Given the description of an element on the screen output the (x, y) to click on. 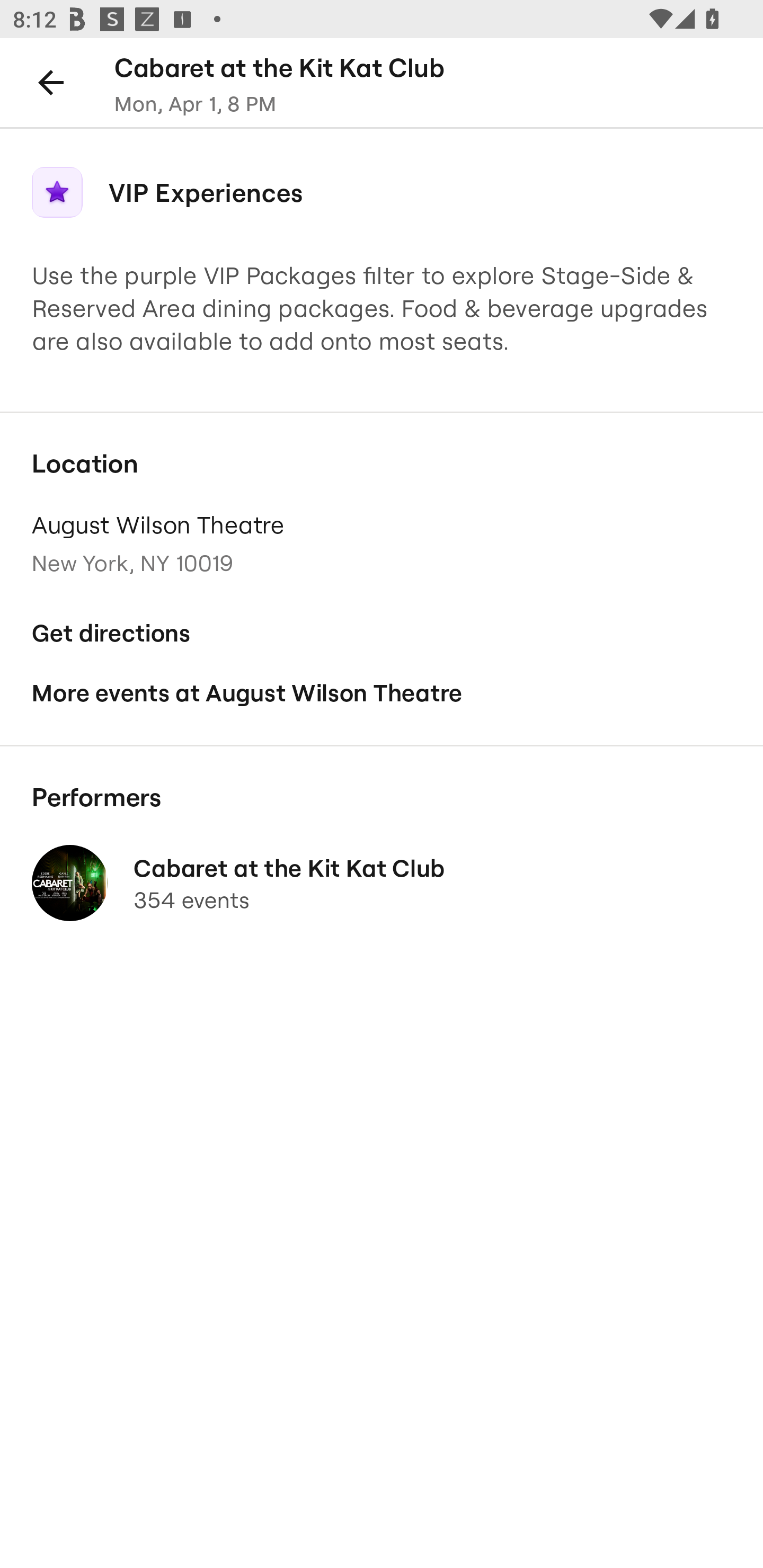
Back (50, 81)
Get directions (381, 633)
More events at August Wilson Theatre (381, 692)
Cabaret at the Kit Kat Club 354 events (381, 883)
